Given the description of an element on the screen output the (x, y) to click on. 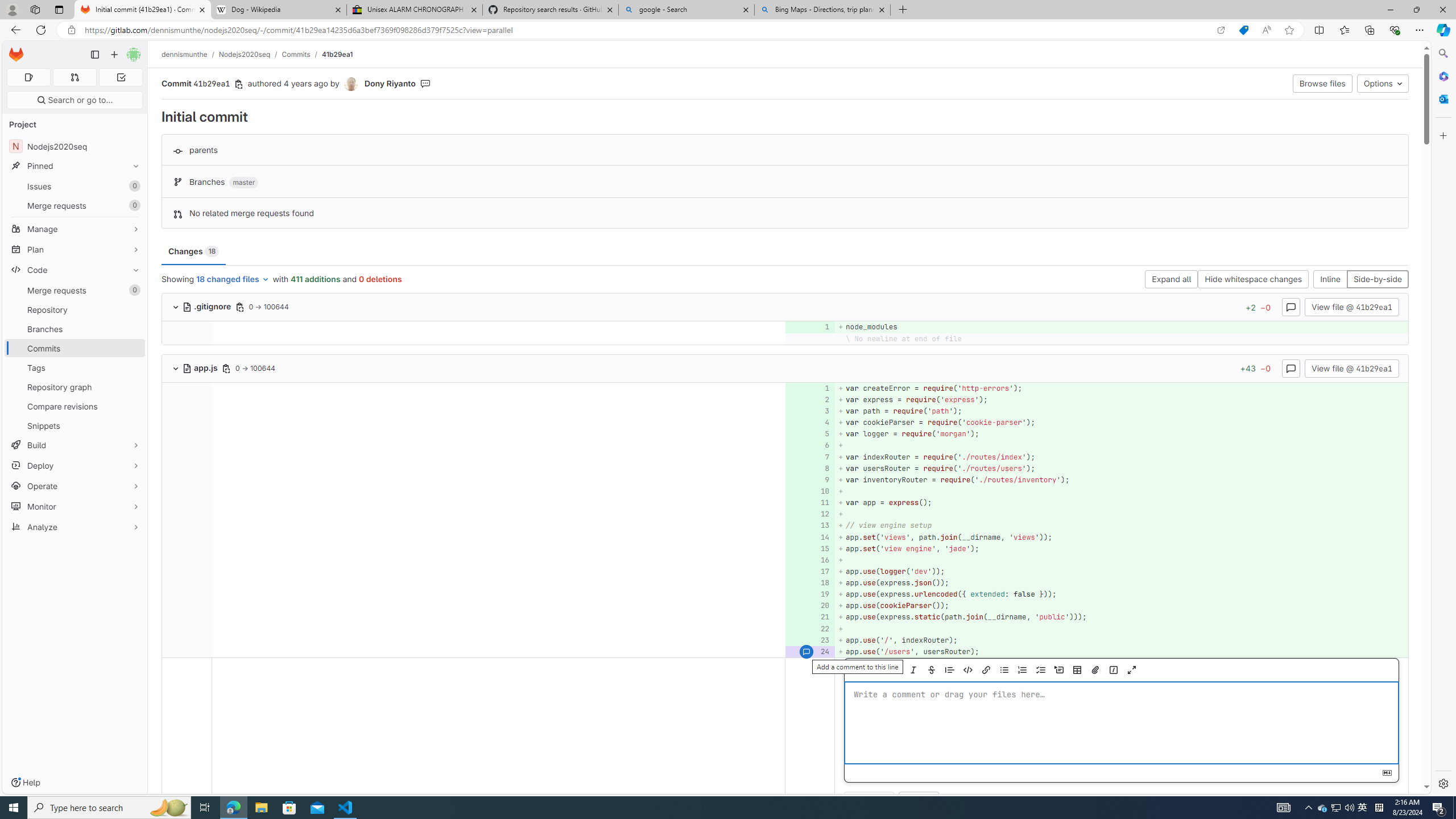
Class: div-dropzone-icon s24 (1119, 722)
+ var express = require('express');  (1120, 399)
Branches (74, 328)
Operate (74, 485)
Repository (74, 309)
Add a comment to this line 20 (809, 605)
View file @ 41b29ea1 (1351, 367)
Add a checklist (1040, 670)
Add bold text (Ctrl+B) (895, 670)
Copy file path (225, 368)
Add a comment to this line 13 (809, 525)
